Given the description of an element on the screen output the (x, y) to click on. 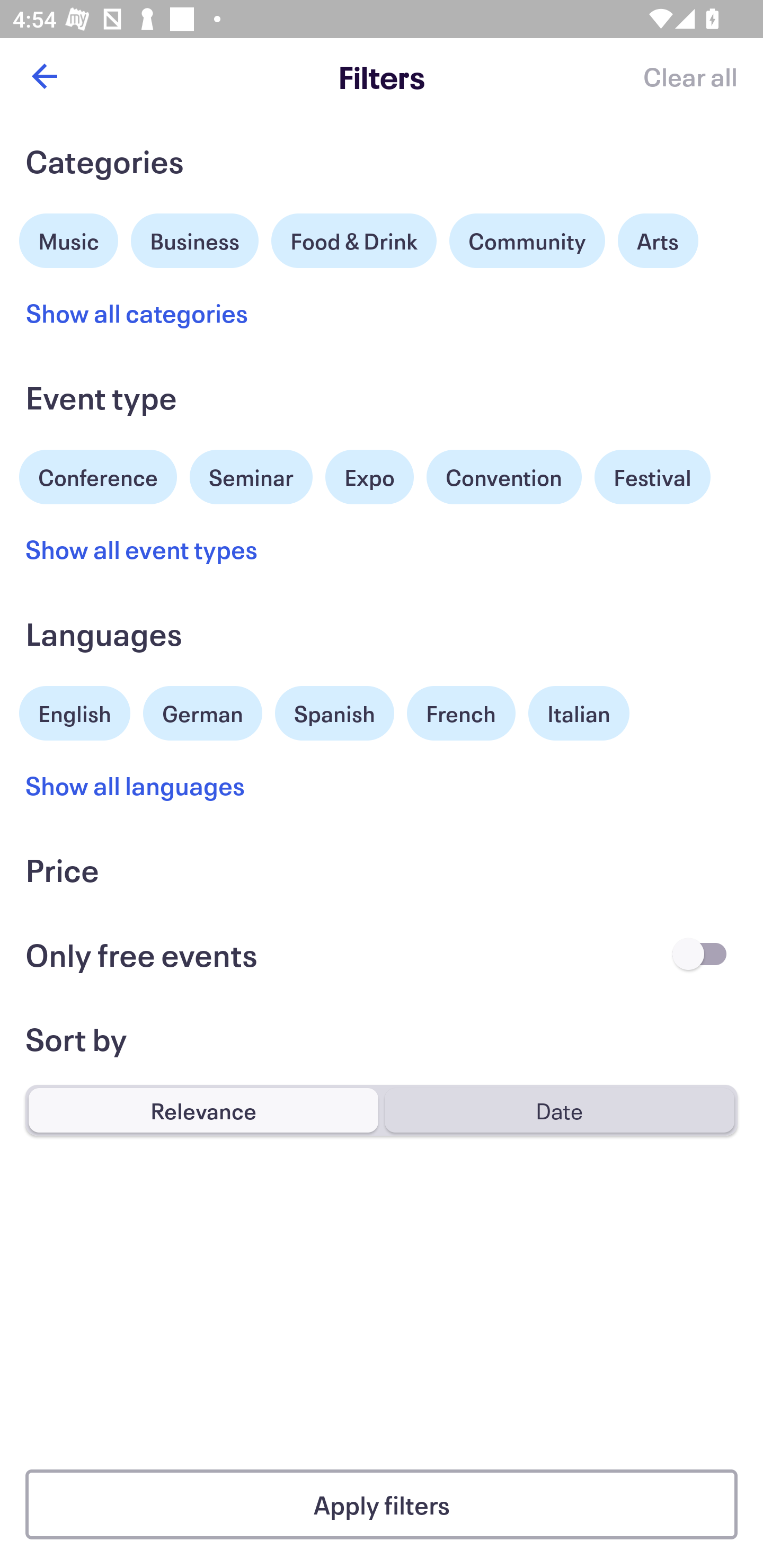
Back button (44, 75)
Clear all (690, 75)
Music (68, 238)
Business (194, 238)
Food & Drink (353, 240)
Community (527, 240)
Arts (658, 240)
Show all categories (136, 312)
Conference (98, 475)
Seminar (250, 477)
Expo (369, 477)
Convention (503, 477)
Festival (652, 477)
Show all event types (141, 548)
English (74, 710)
German (202, 710)
Spanish (334, 713)
French (460, 713)
Italian (578, 713)
Show all languages (135, 784)
Relevance (203, 1109)
Date (559, 1109)
Apply filters (381, 1504)
